Given the description of an element on the screen output the (x, y) to click on. 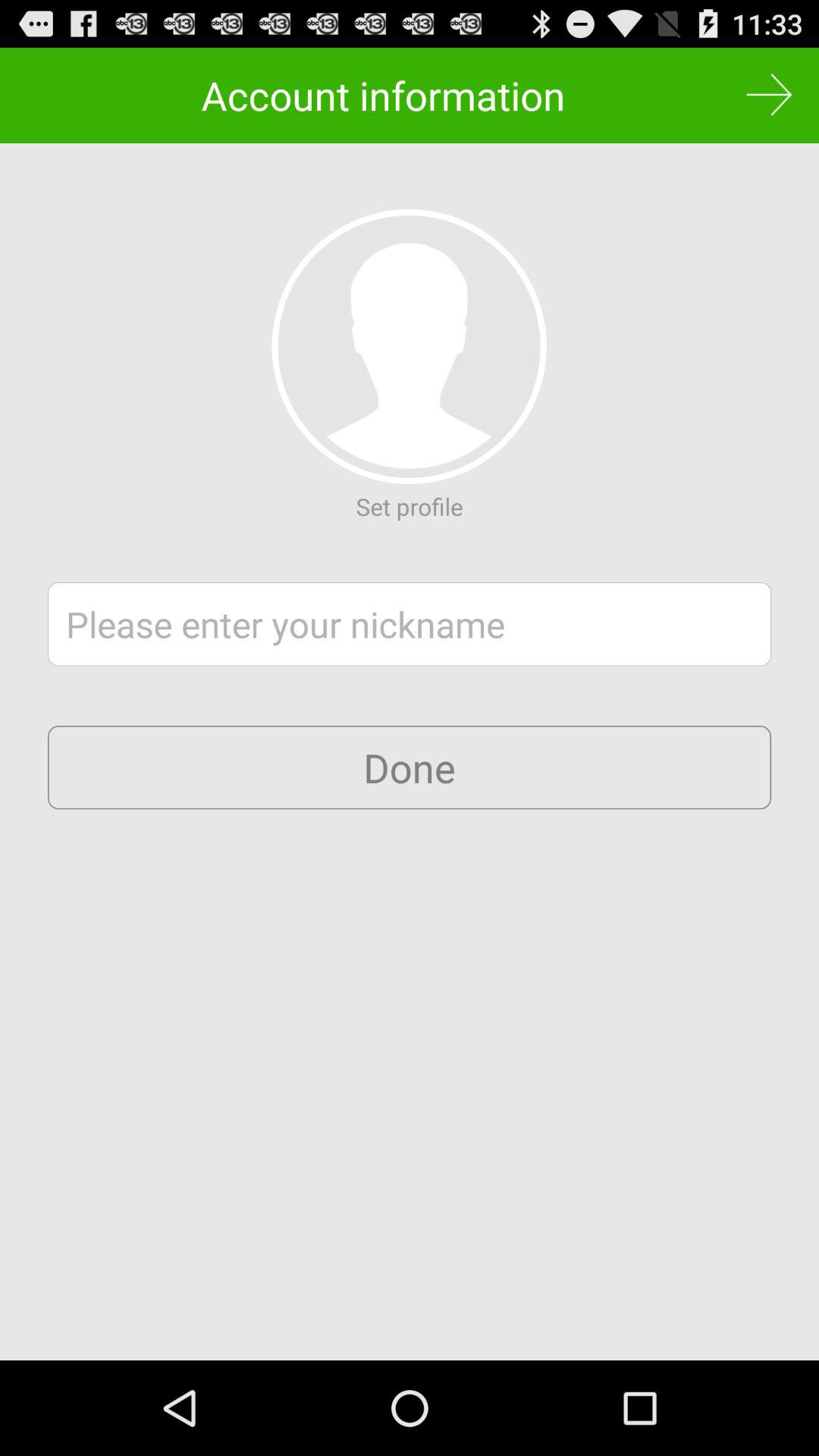
tap the button at the top right corner (769, 95)
